Given the description of an element on the screen output the (x, y) to click on. 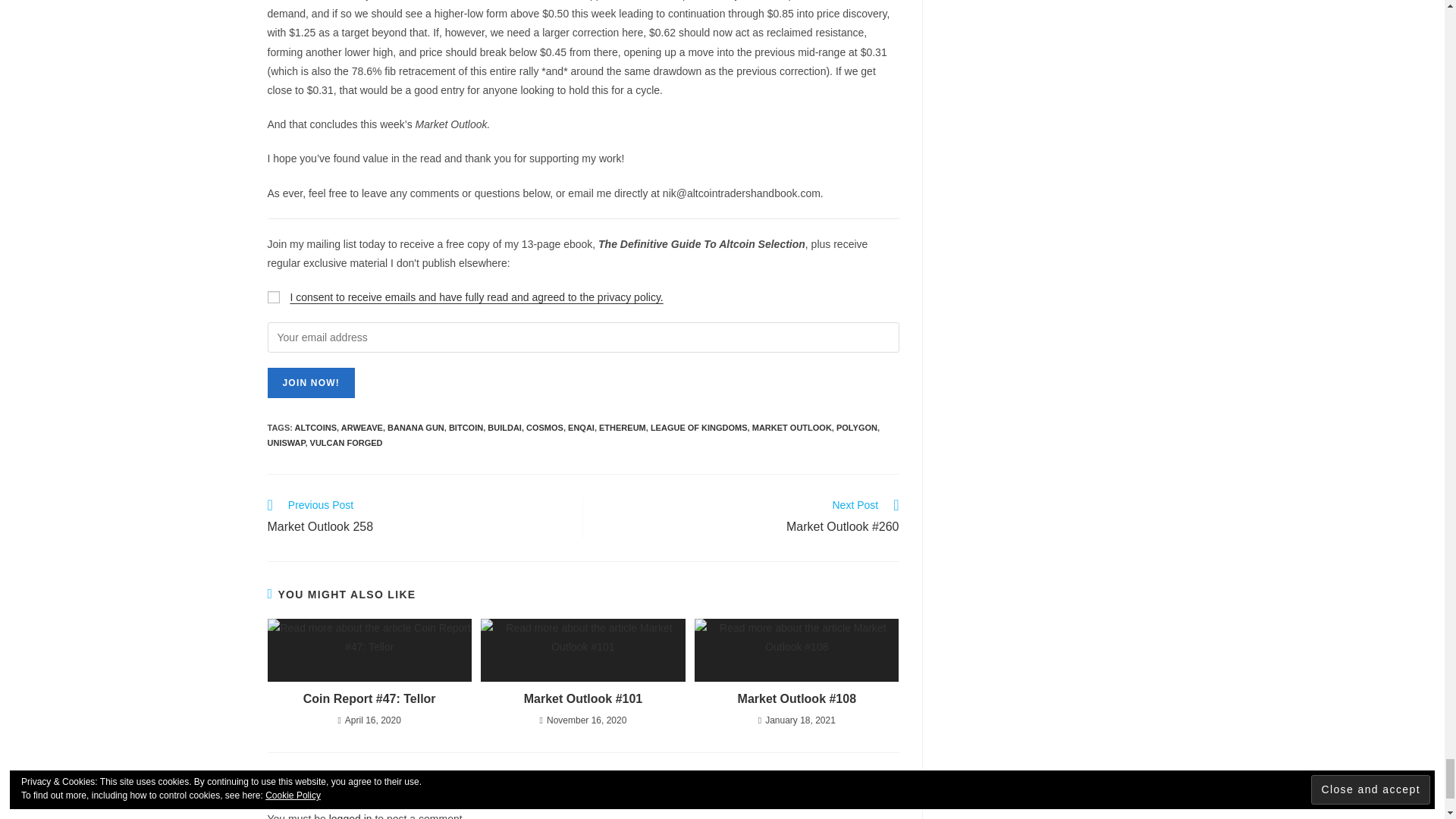
1 (272, 297)
Join Now! (309, 382)
